Given the description of an element on the screen output the (x, y) to click on. 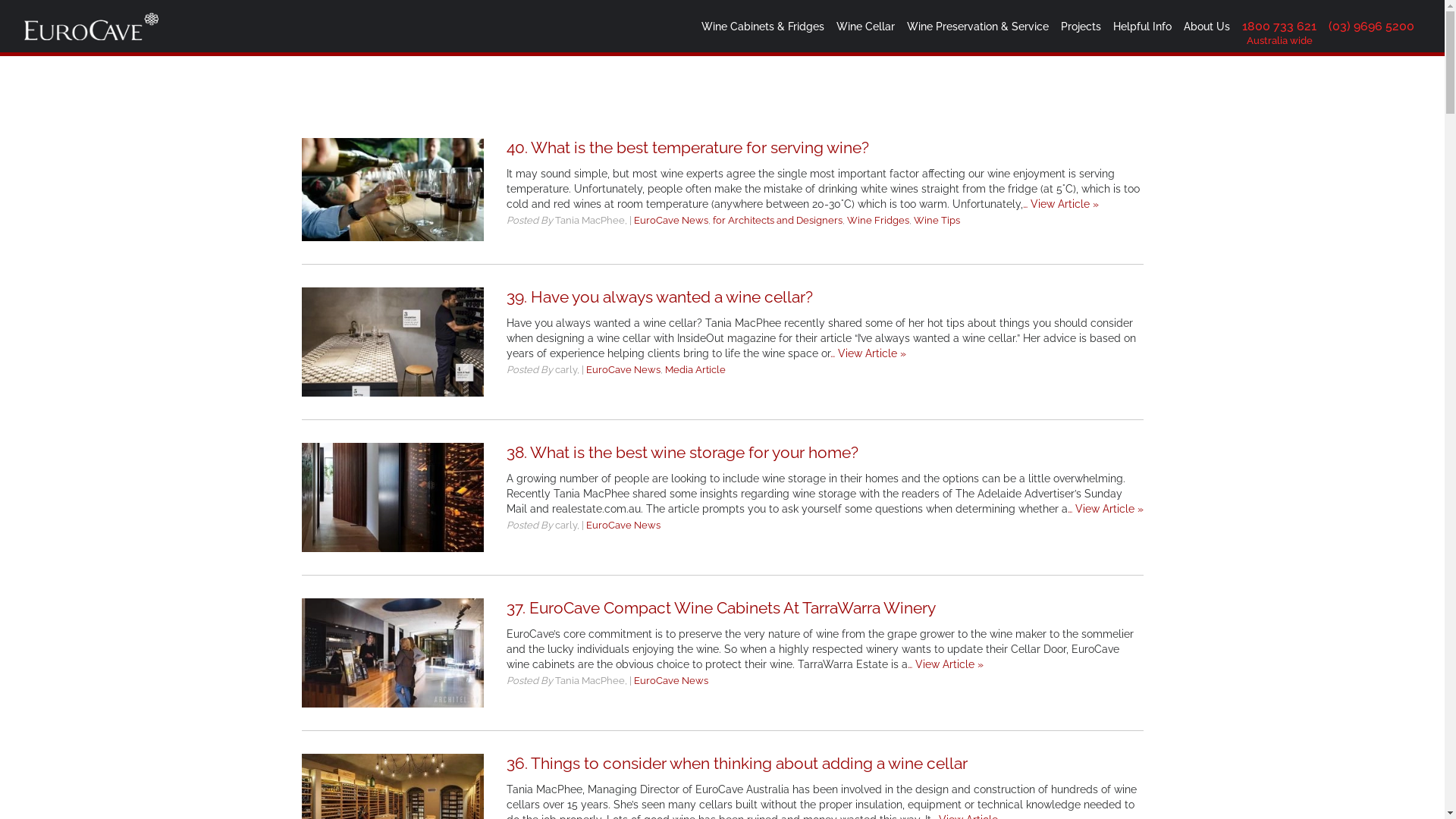
EuroCave News Element type: text (670, 219)
(03) 9696 5200 Element type: text (1371, 26)
40. What is the best temperature for serving wine? Element type: text (687, 147)
Media Article Element type: text (694, 369)
Helpful Info Element type: text (1142, 26)
EuroCave News Element type: text (622, 369)
1800 733 621 Element type: text (1279, 26)
for Architects and Designers Element type: text (777, 219)
39. Have you always wanted a wine cellar? Element type: text (659, 296)
EuroCave News Element type: text (622, 524)
EuroCave News Element type: text (670, 680)
Wine Fridges Element type: text (877, 219)
38. What is the best wine storage for your home? Element type: text (682, 451)
About Us Element type: text (1206, 26)
Wine Cellar Element type: text (865, 26)
Wine Cabinets & Fridges Element type: text (762, 26)
Projects Element type: text (1080, 26)
Wine Preservation & Service Element type: text (977, 26)
Wine Tips Element type: text (936, 219)
37. EuroCave Compact Wine Cabinets At TarraWarra Winery Element type: text (720, 607)
